Given the description of an element on the screen output the (x, y) to click on. 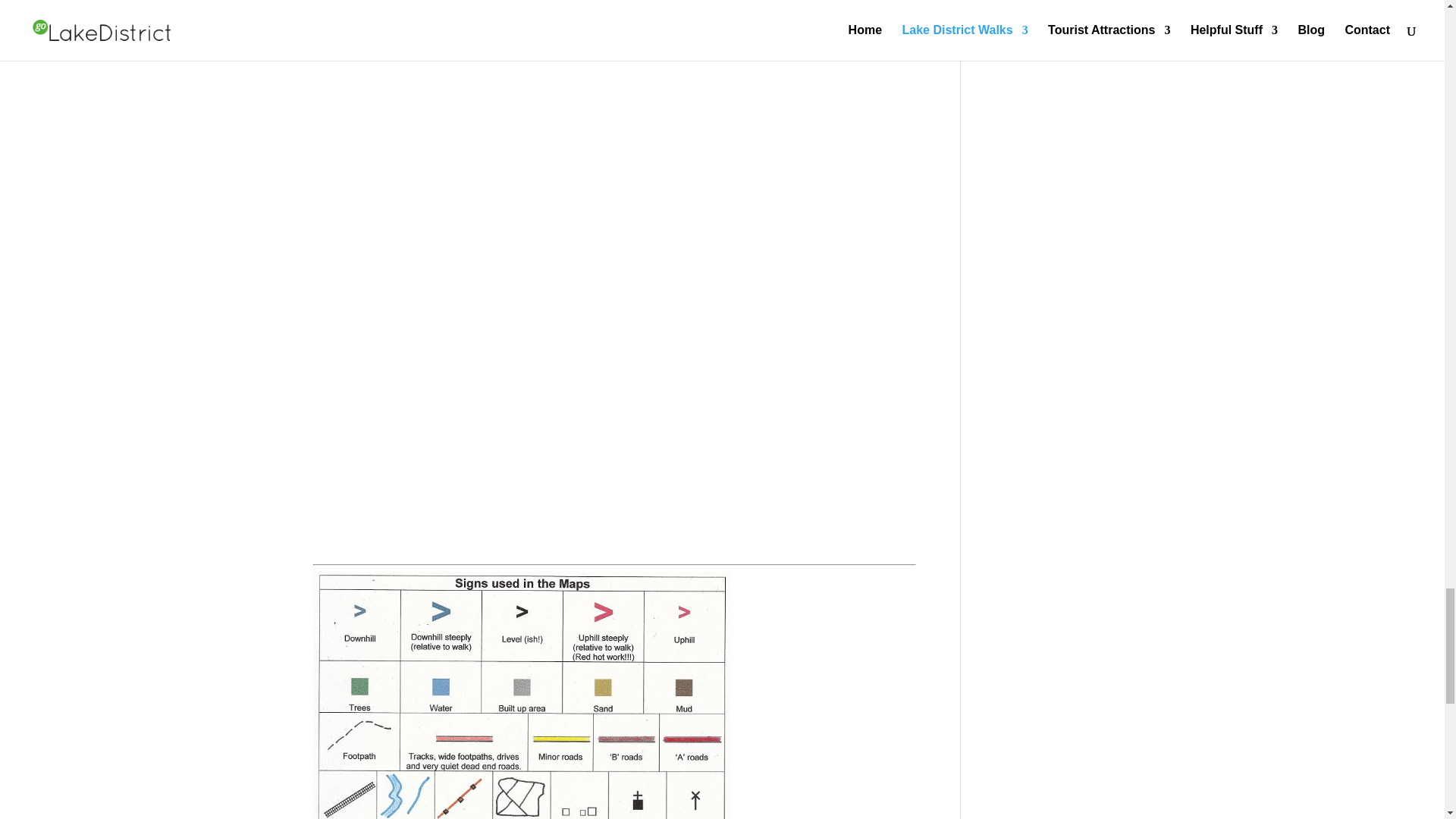
Signs used in the maps (521, 695)
